Given the description of an element on the screen output the (x, y) to click on. 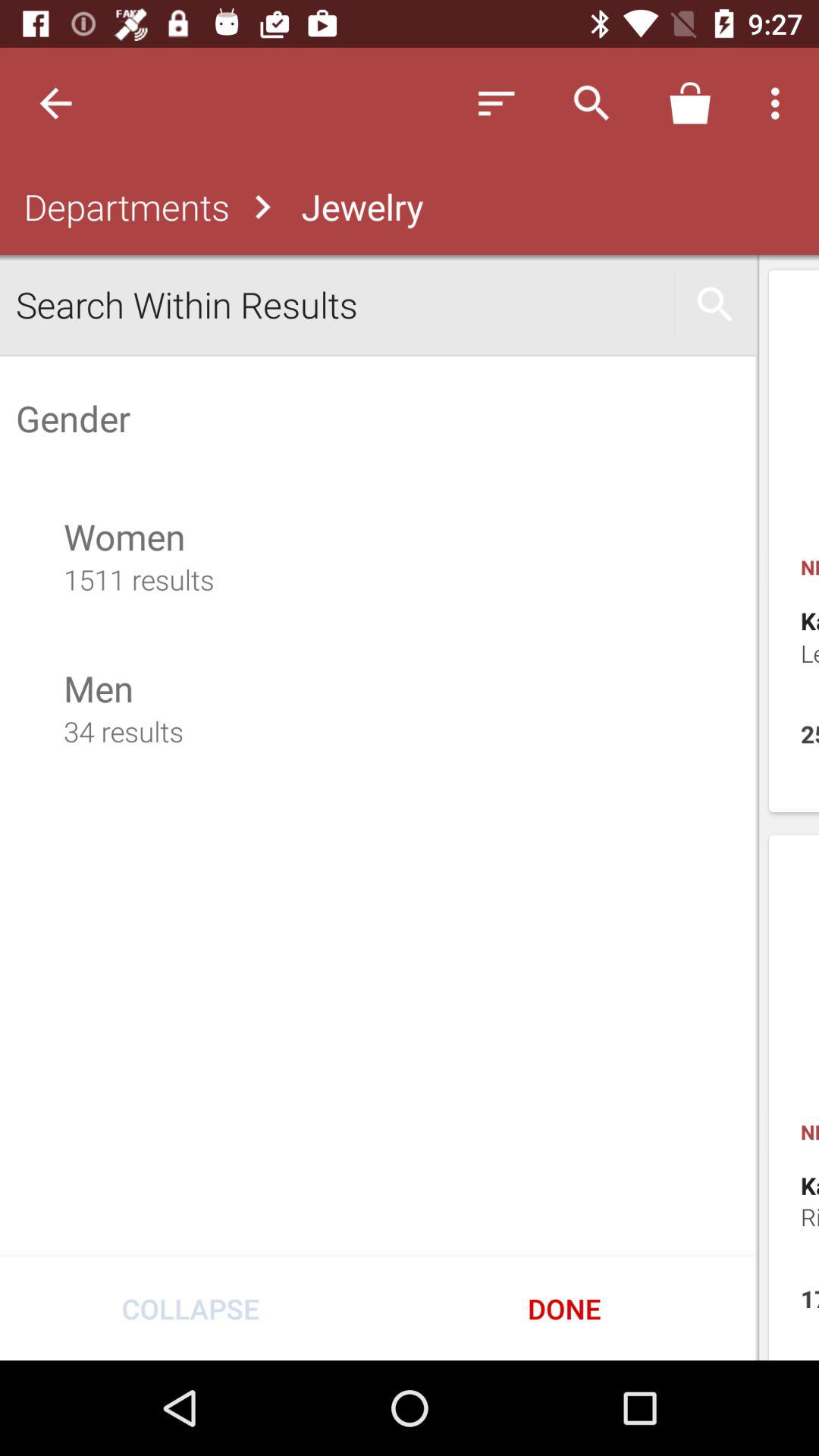
press the icon above the departments (55, 103)
